Given the description of an element on the screen output the (x, y) to click on. 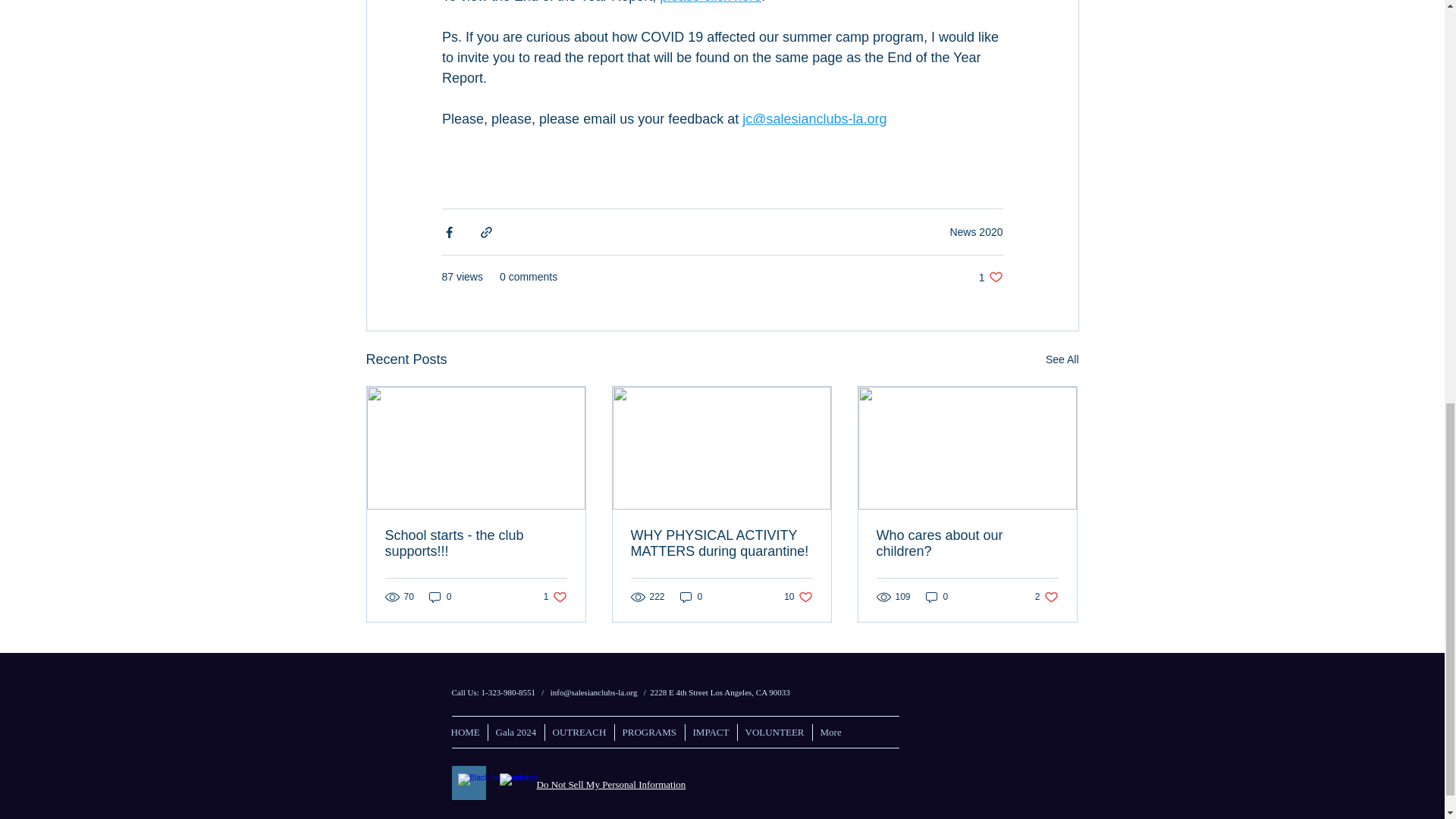
0 (937, 596)
School starts - the club supports!!! (555, 596)
News 2020 (798, 596)
WHY PHYSICAL ACTIVITY MATTERS during quarantine! (476, 543)
0 (1046, 596)
please click here (976, 232)
